Given the description of an element on the screen output the (x, y) to click on. 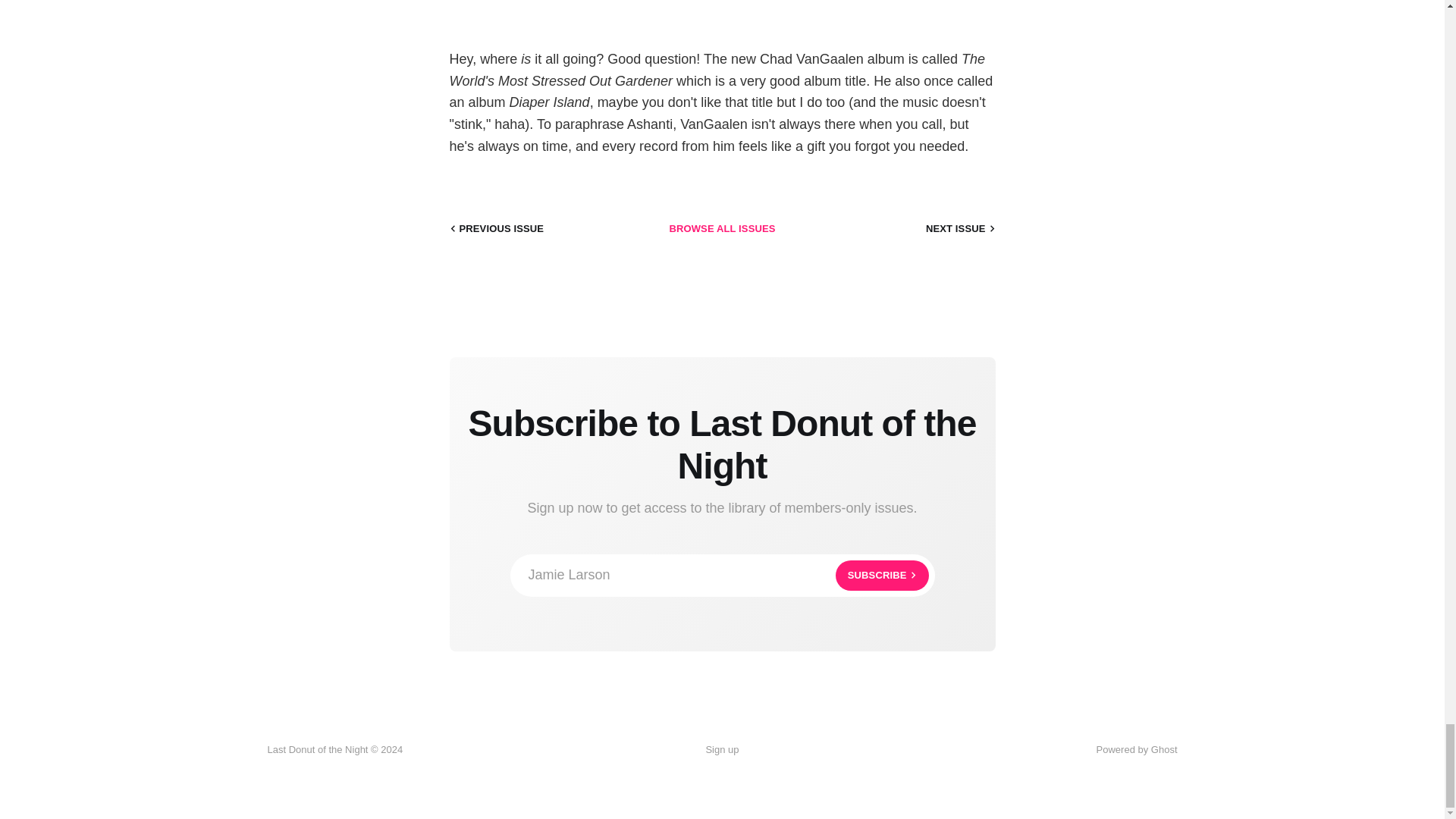
BROWSE ALL ISSUES (721, 228)
YouTube video player (721, 10)
Sign up (721, 575)
Powered by Ghost (721, 750)
